Given the description of an element on the screen output the (x, y) to click on. 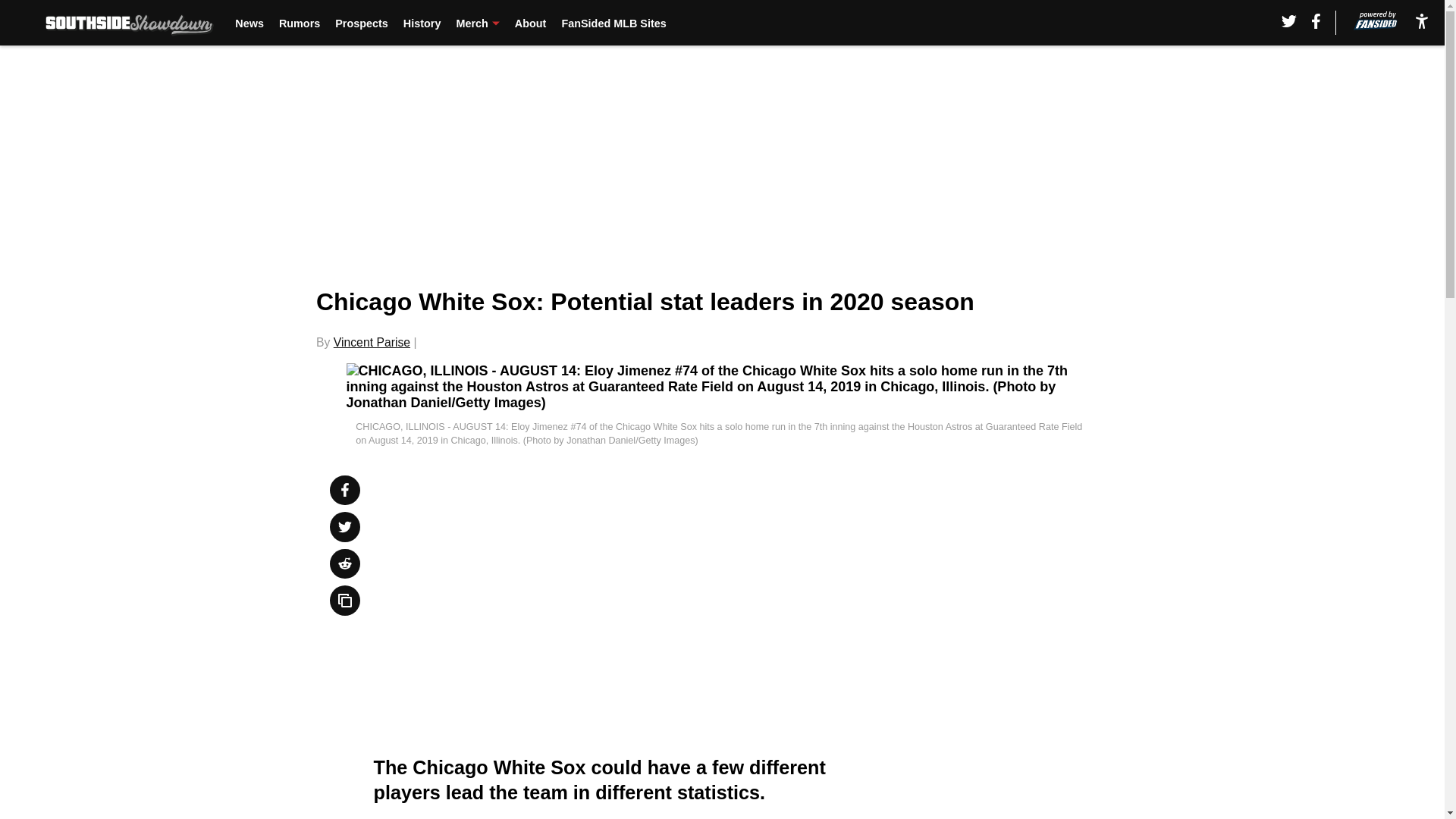
Rumors (299, 23)
History (422, 23)
News (248, 23)
About (531, 23)
Vincent Parise (371, 341)
FanSided MLB Sites (612, 23)
Prospects (361, 23)
